Given the description of an element on the screen output the (x, y) to click on. 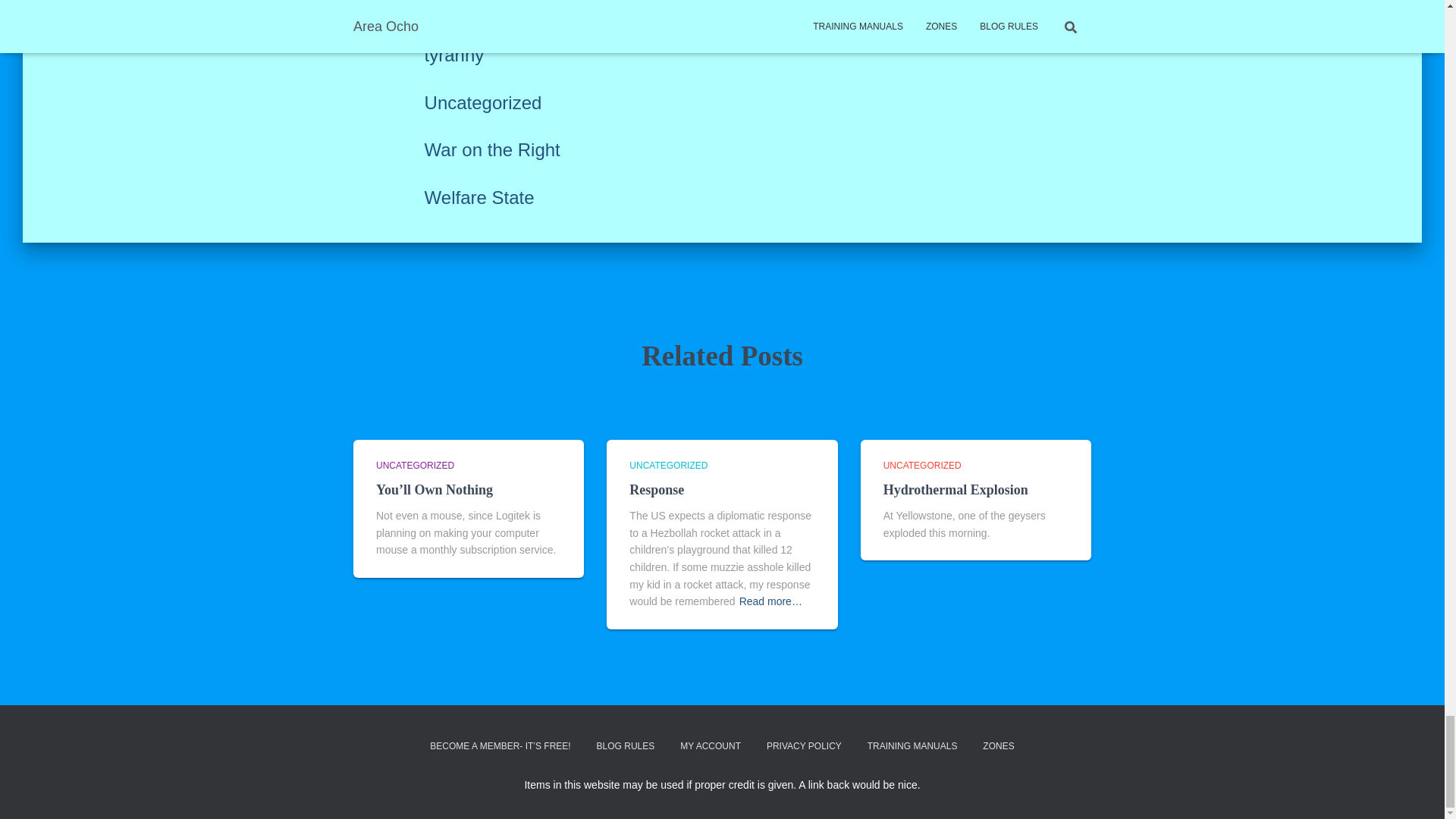
Response (656, 489)
Hydrothermal Explosion (955, 489)
View all posts in Uncategorized (414, 465)
View all posts in Uncategorized (667, 465)
View all posts in Uncategorized (921, 465)
